Given the description of an element on the screen output the (x, y) to click on. 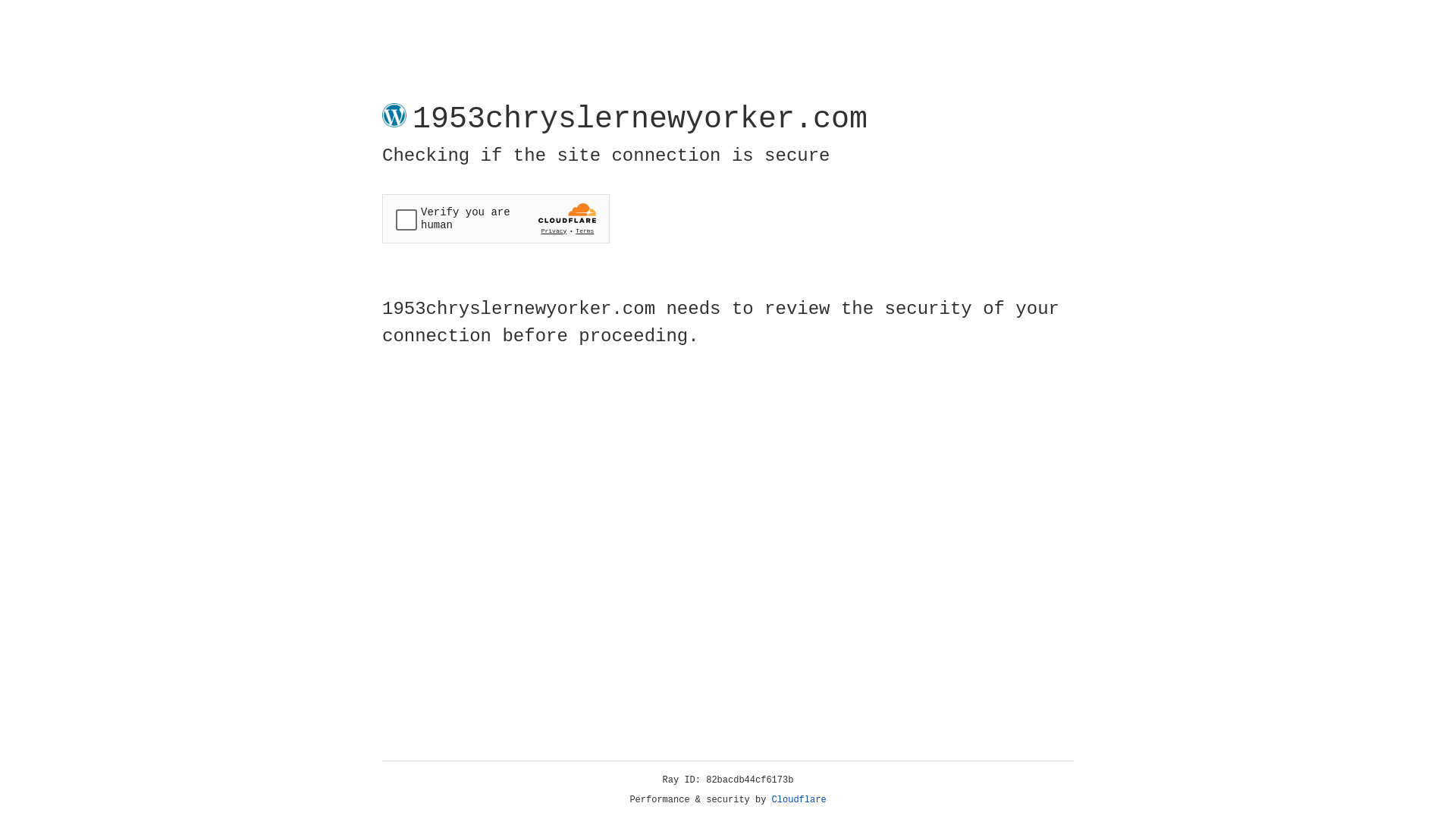
Cloudflare Element type: text (798, 799)
Widget containing a Cloudflare security challenge Element type: hover (495, 218)
